Given the description of an element on the screen output the (x, y) to click on. 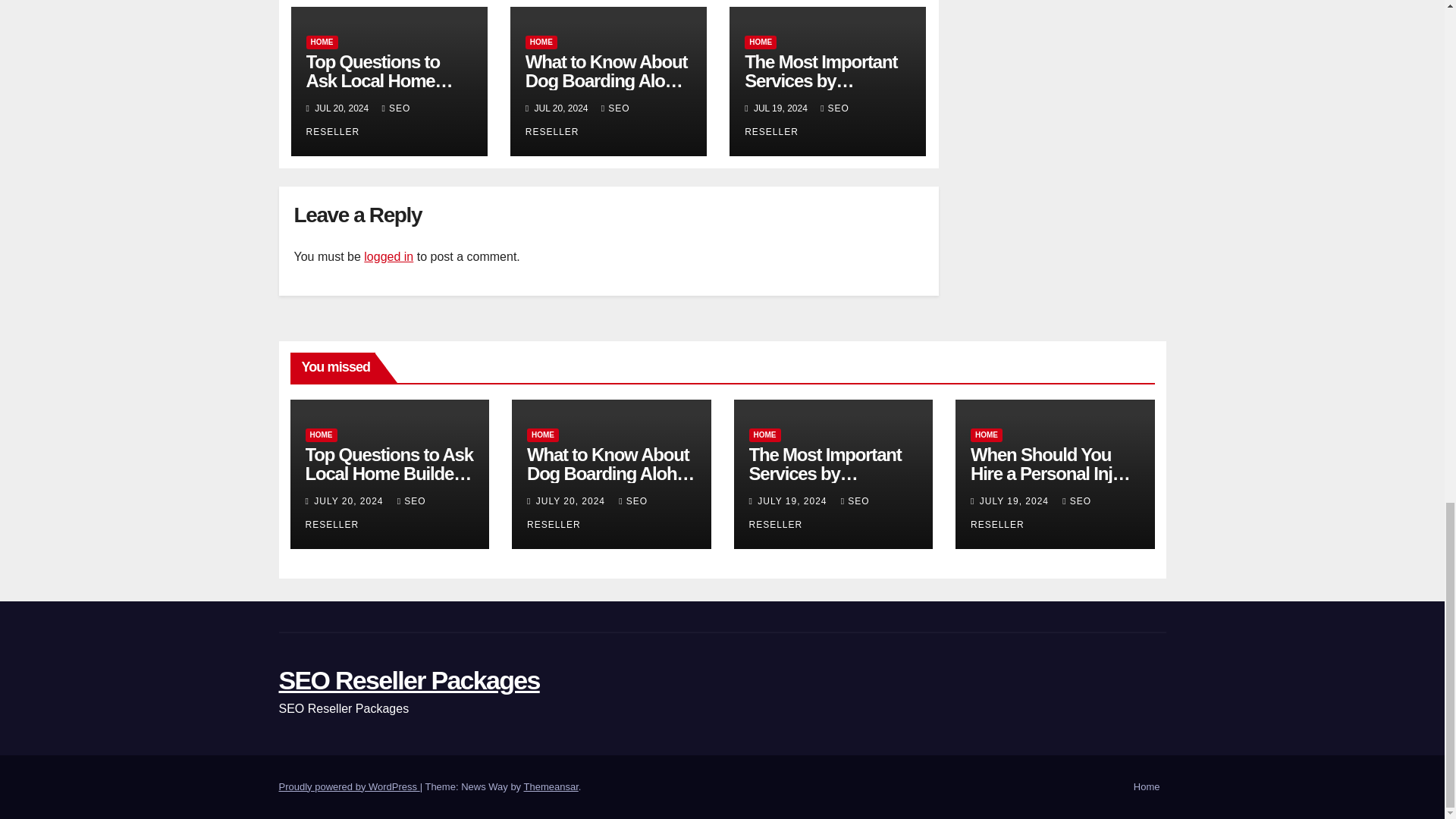
SEO RESELLER (796, 120)
HOME (760, 42)
SEO RESELLER (357, 120)
What to Know About Dog Boarding Aloha Valley (606, 80)
Permalink to: What to Know About Dog Boarding   Aloha Valley (610, 473)
Permalink to: What to Know About Dog Boarding   Aloha Valley (606, 80)
Home (1146, 786)
HOME (320, 435)
JULY 20, 2024 (350, 501)
HOME (321, 42)
SEO RESELLER (577, 120)
logged in (388, 256)
